Given the description of an element on the screen output the (x, y) to click on. 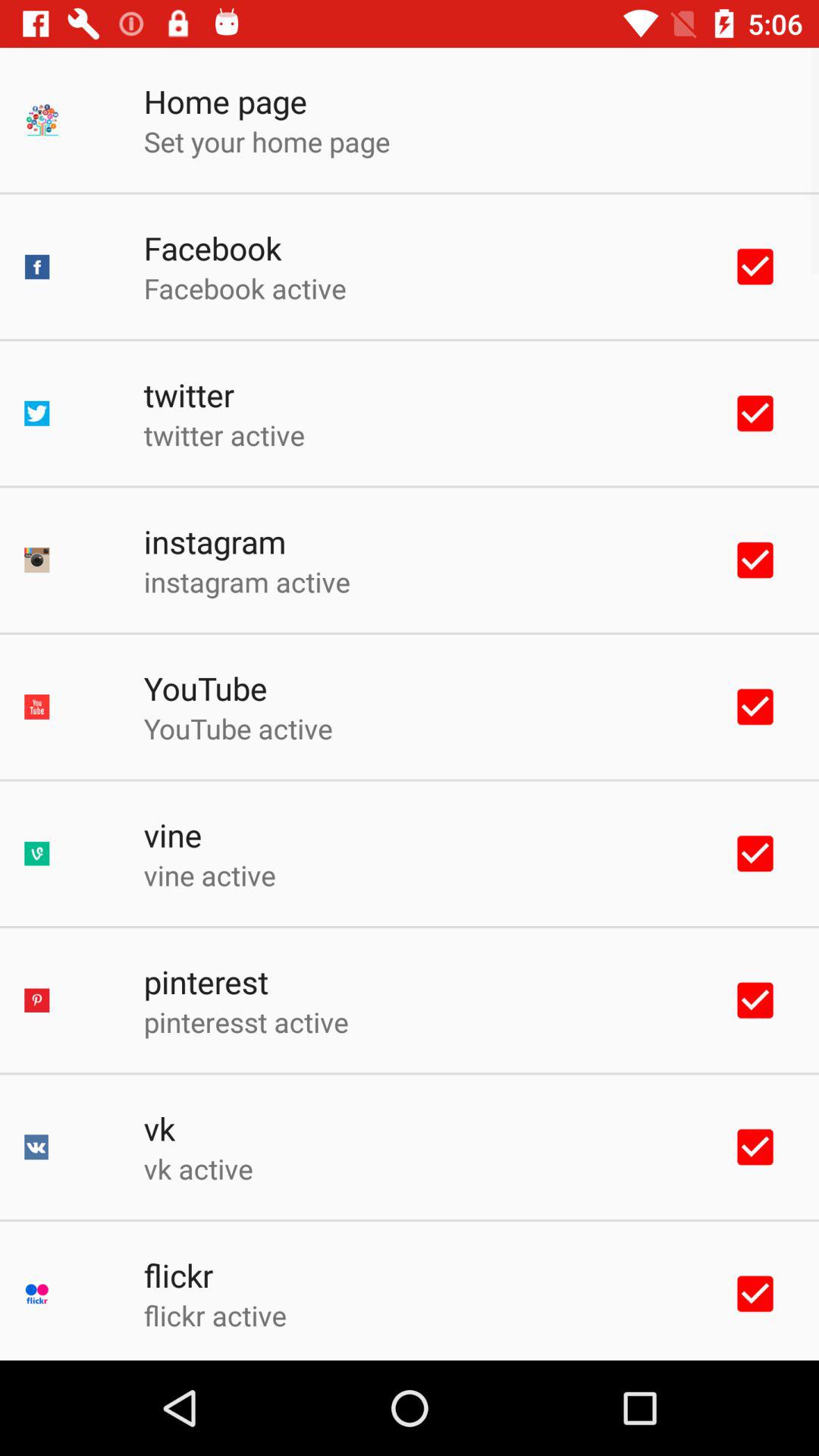
press the pinterest (205, 981)
